Given the description of an element on the screen output the (x, y) to click on. 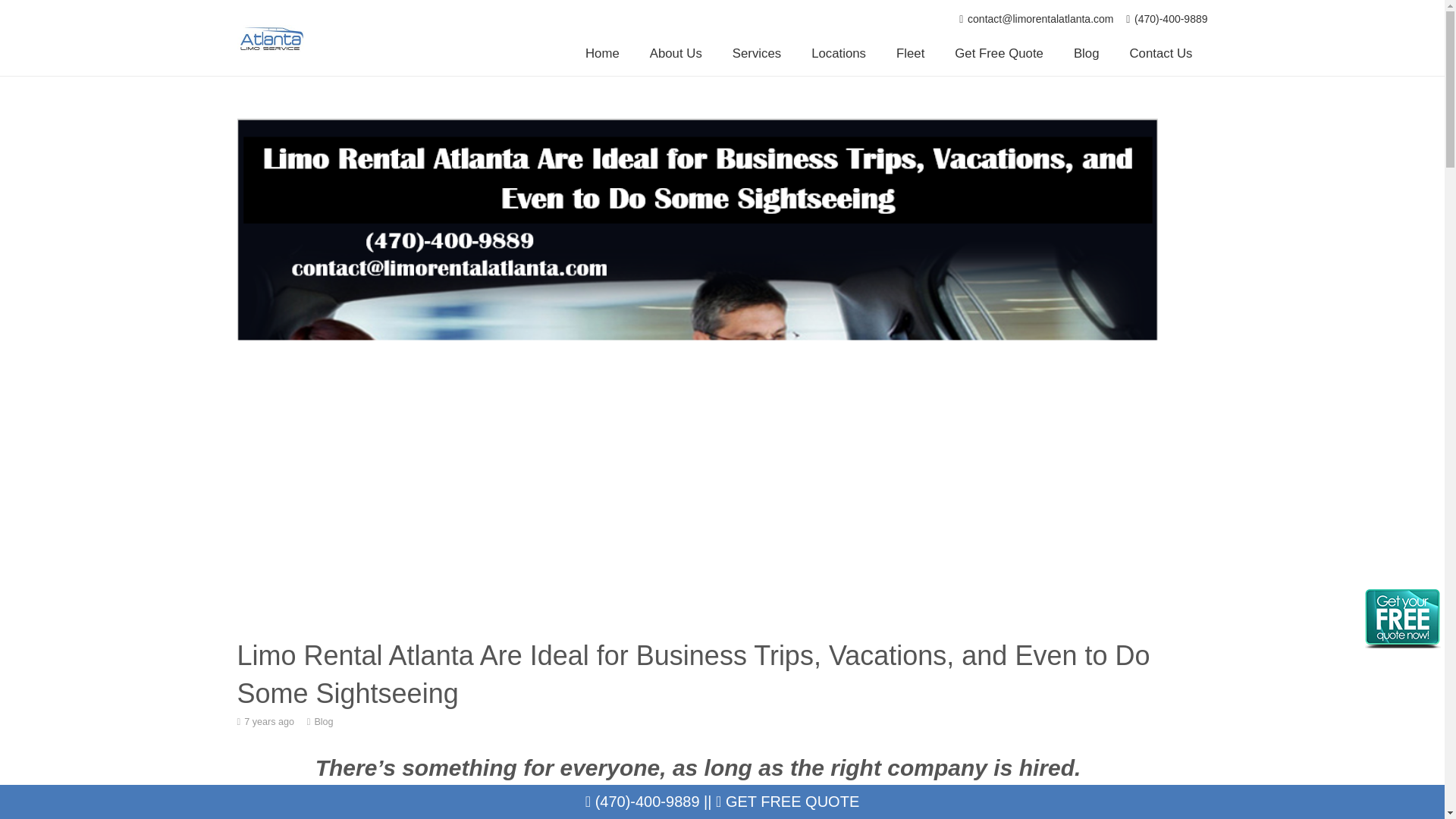
Fleet (909, 53)
Contact Us (1161, 53)
Blog (1086, 53)
Services (756, 53)
Get Free Quote (998, 53)
Locations (838, 53)
About Us (675, 53)
Blog (323, 721)
Limo Rental Atlanta (661, 793)
Home (602, 53)
